Given the description of an element on the screen output the (x, y) to click on. 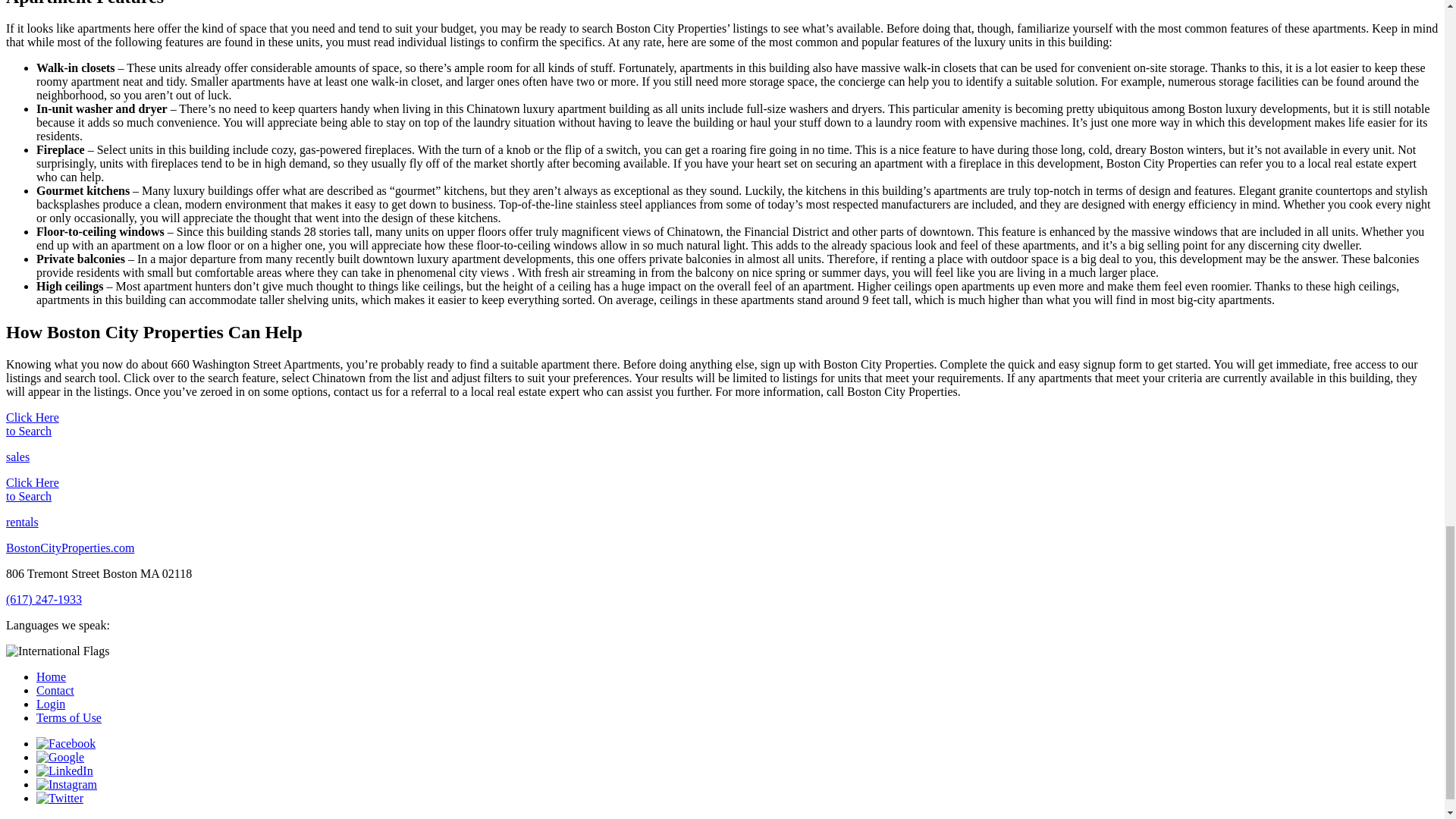
BostonCityProperties.com (69, 547)
Contact (55, 689)
Login (50, 703)
Terms of Use (68, 717)
Home (50, 676)
